Given the description of an element on the screen output the (x, y) to click on. 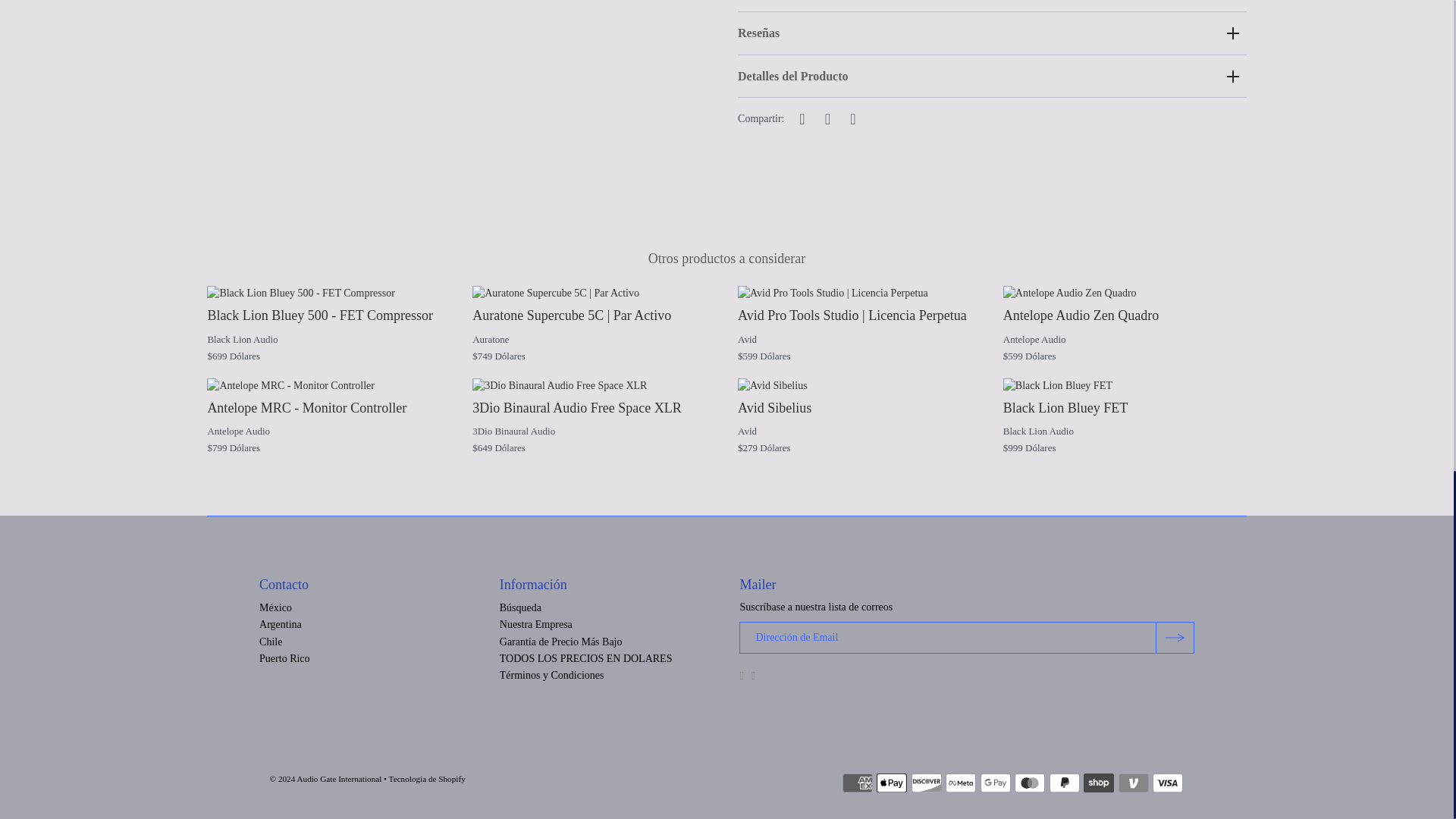
Compartir en Facebook (801, 118)
Compartir en Pintrest (852, 118)
PayPal (1064, 782)
Mastercard (1029, 782)
Apple Pay (891, 782)
Meta Pay (959, 782)
Discover (926, 782)
American Express (857, 782)
Venmo (1133, 782)
Visa (1167, 782)
